Given the description of an element on the screen output the (x, y) to click on. 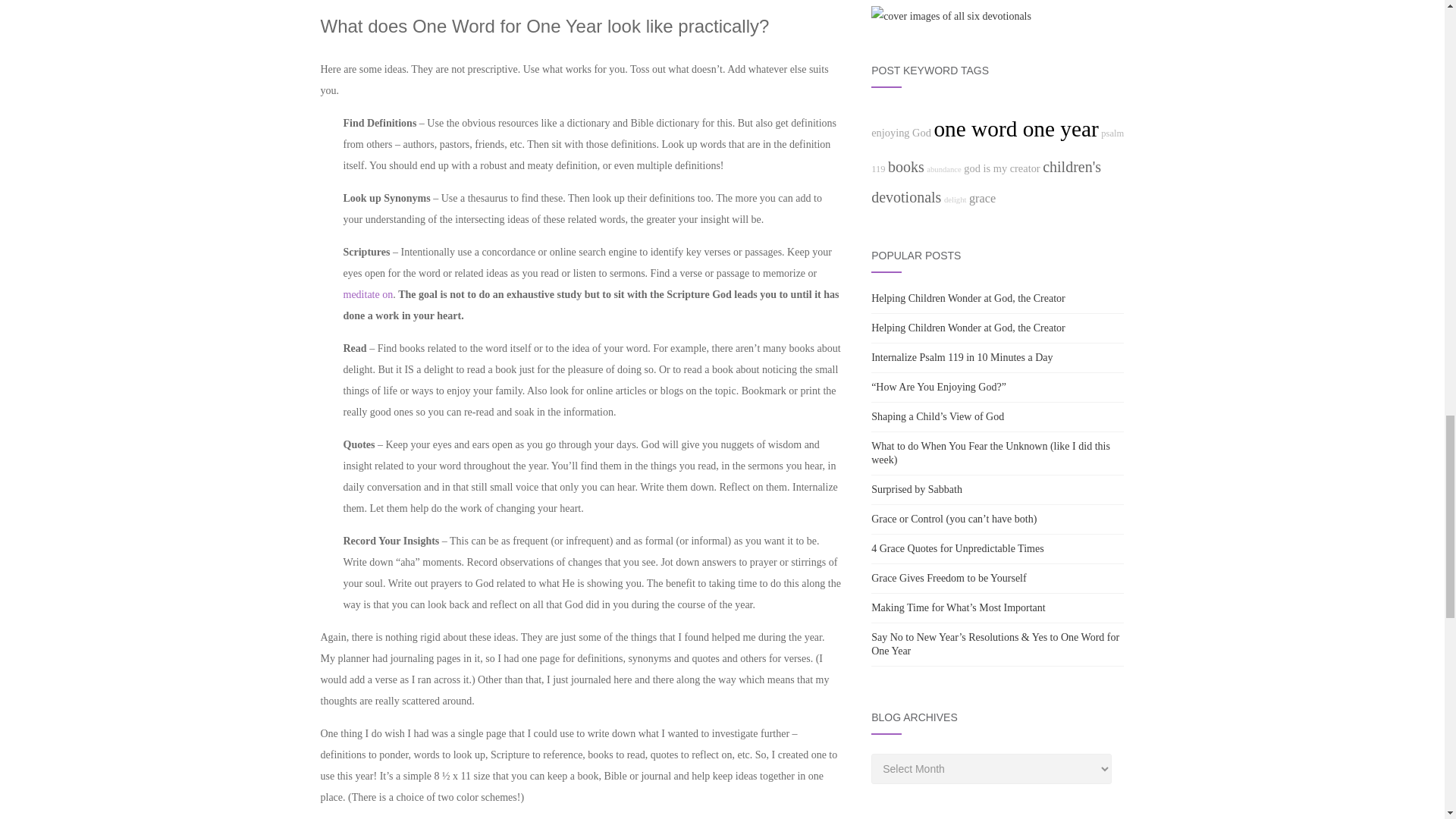
meditate on (367, 294)
